Given the description of an element on the screen output the (x, y) to click on. 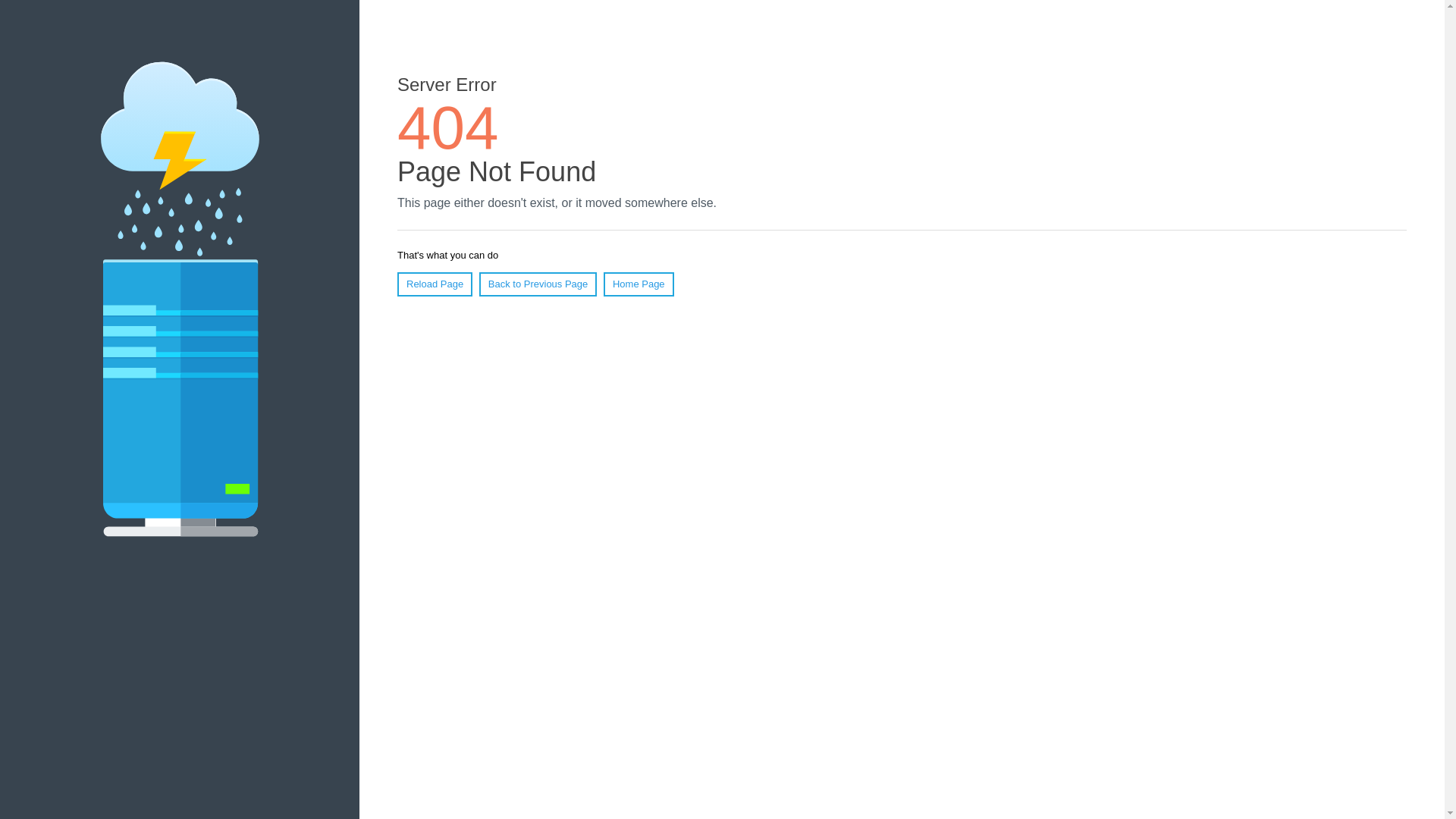
Reload Page Element type: text (434, 284)
Home Page Element type: text (638, 284)
Back to Previous Page Element type: text (538, 284)
